Given the description of an element on the screen output the (x, y) to click on. 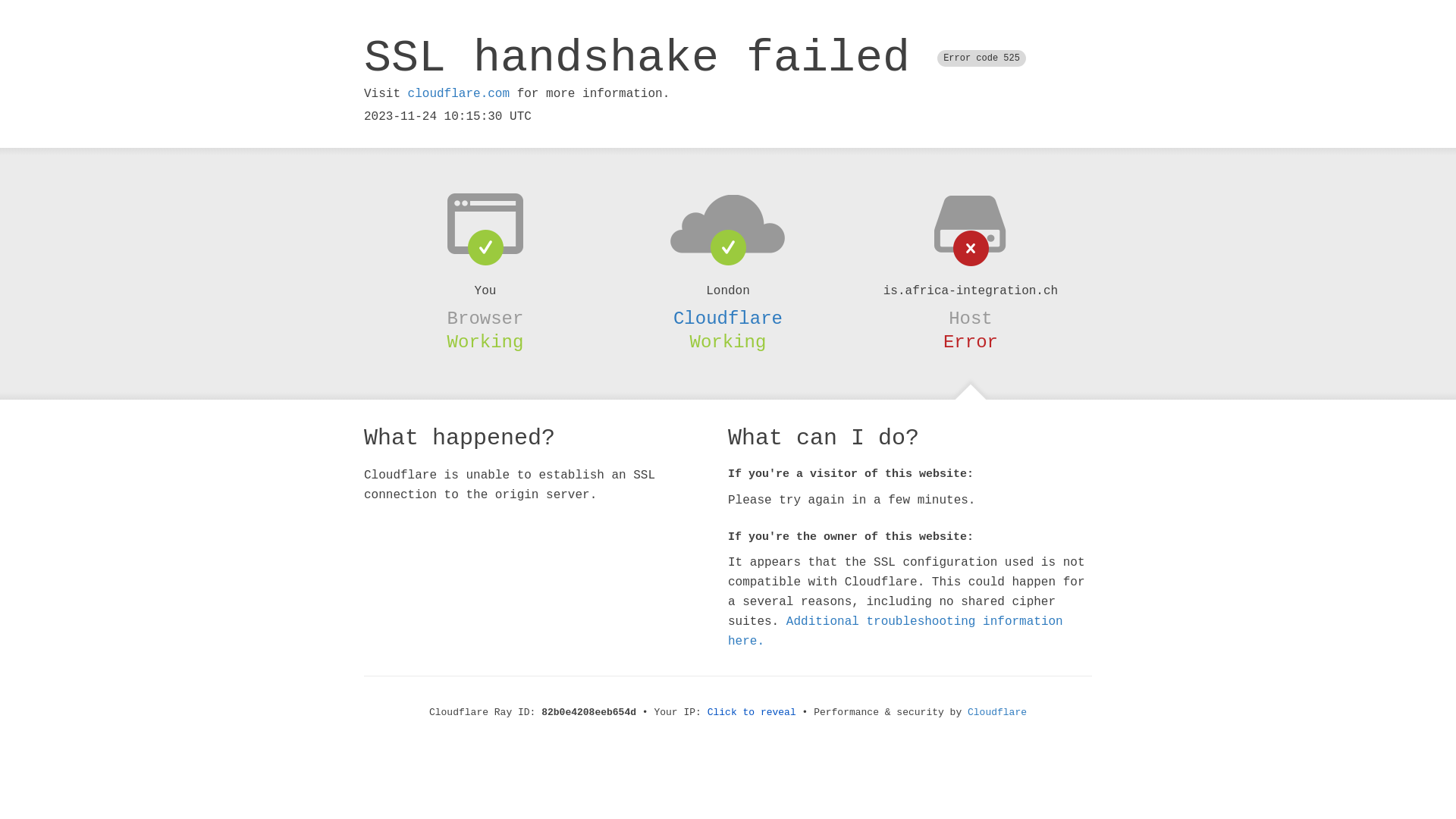
Click to reveal Element type: text (751, 712)
Cloudflare Element type: text (996, 712)
Additional troubleshooting information here. Element type: text (895, 631)
Cloudflare Element type: text (727, 318)
cloudflare.com Element type: text (458, 93)
